Given the description of an element on the screen output the (x, y) to click on. 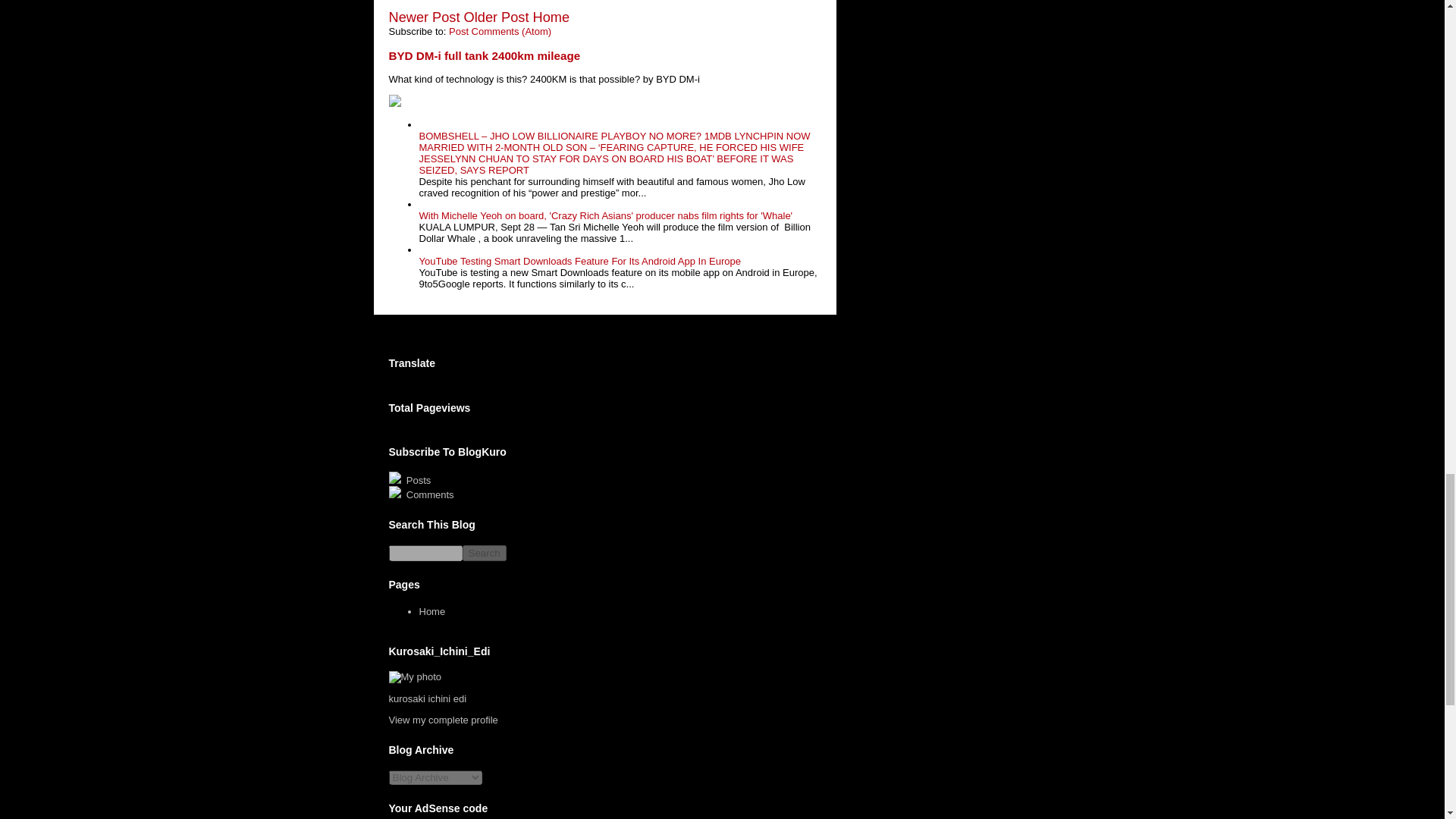
search (424, 553)
Newer Post (424, 17)
Search (484, 553)
Older Post (496, 17)
search (484, 553)
Search (484, 553)
Older Post (496, 17)
Home (432, 611)
Home (551, 17)
BYD DM-i full tank 2400km mileage (483, 55)
Search (484, 553)
Newer Post (424, 17)
